Given the description of an element on the screen output the (x, y) to click on. 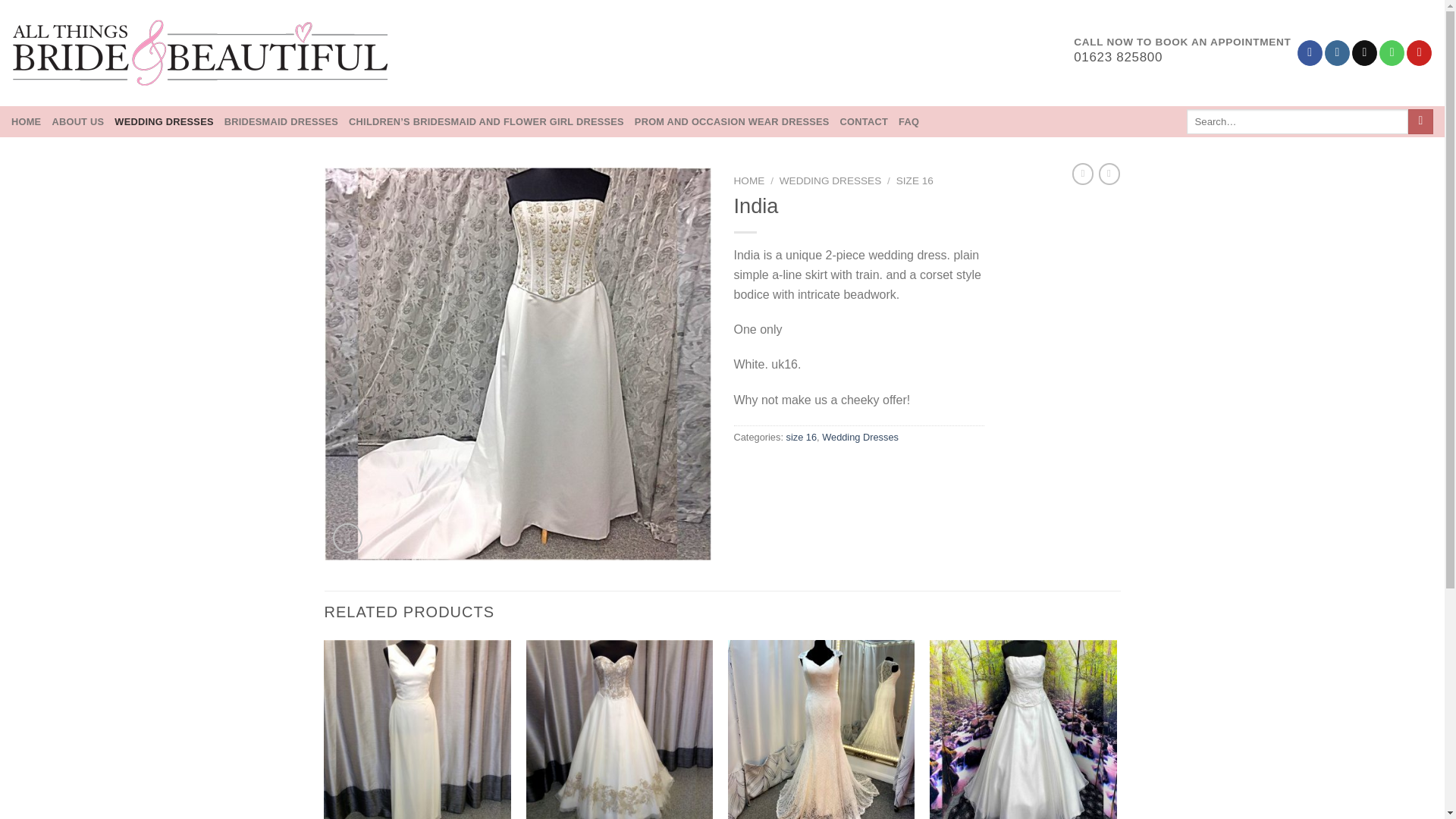
Send us an email (1364, 53)
BRIDESMAID DRESSES (280, 121)
PROM AND OCCASION WEAR DRESSES (731, 121)
Zoom (347, 537)
ABOUT US (76, 121)
Search (1419, 121)
HOME (25, 121)
WEDDING DRESSES (829, 180)
Wedding Dresses (860, 437)
HOME (749, 180)
